Given the description of an element on the screen output the (x, y) to click on. 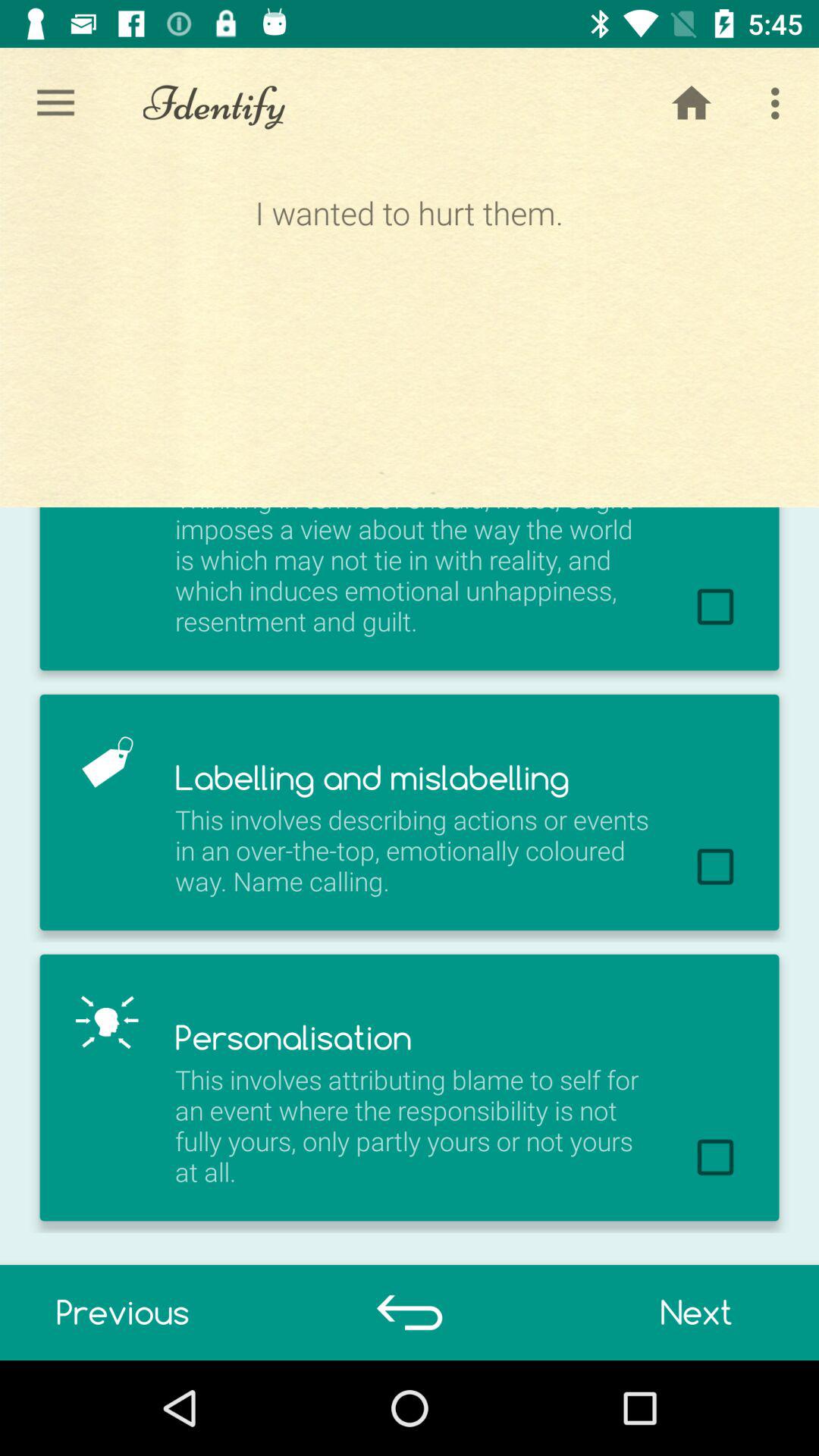
tap the i wanted to icon (409, 333)
